Given the description of an element on the screen output the (x, y) to click on. 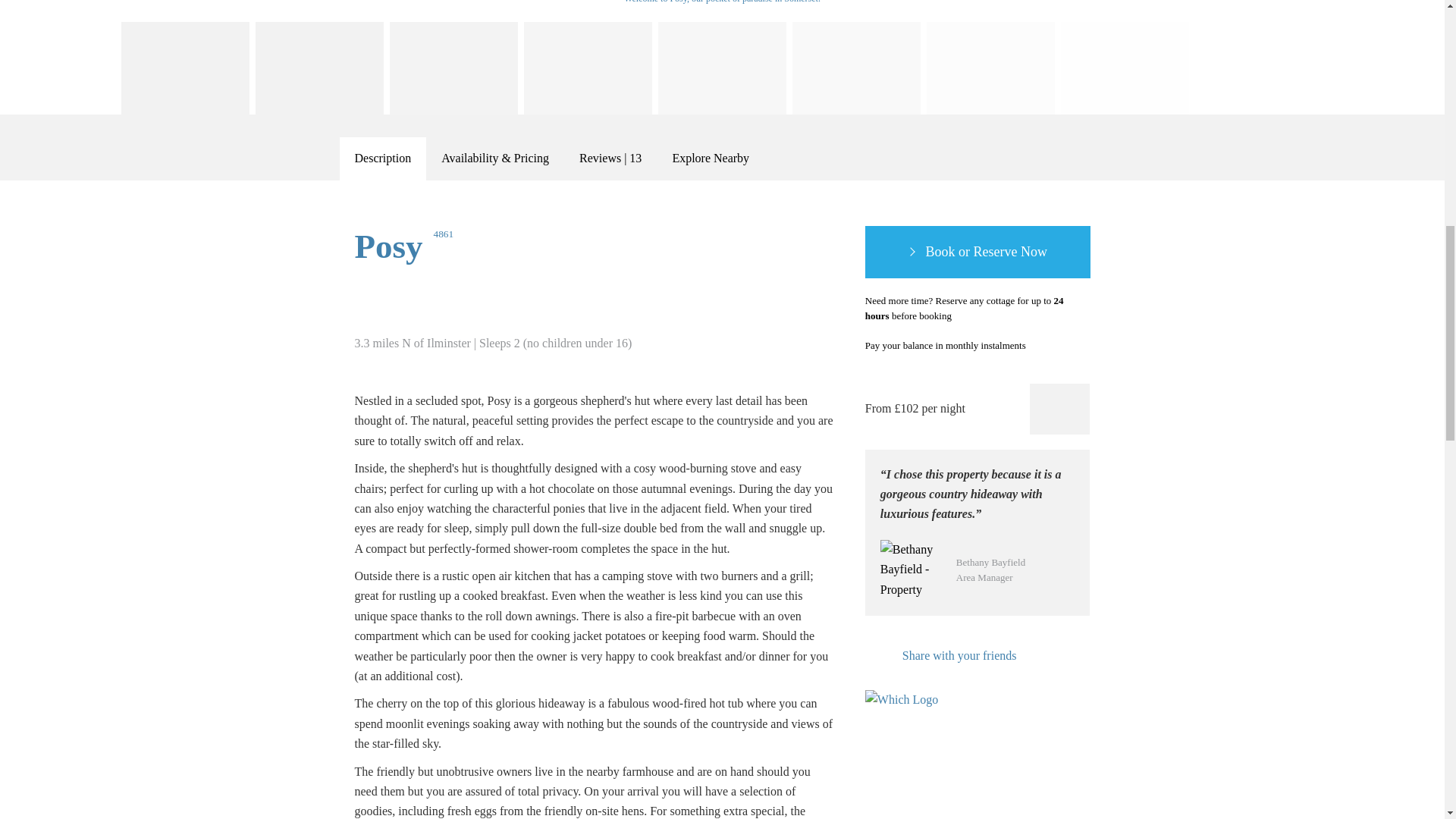
Part Payment Information (1042, 345)
Explore Nearby (710, 158)
Share with your friends (940, 655)
Classic Cottages is a Which? Recommended Provider (908, 718)
Description (382, 158)
Book or Reserve (977, 252)
